Given the description of an element on the screen output the (x, y) to click on. 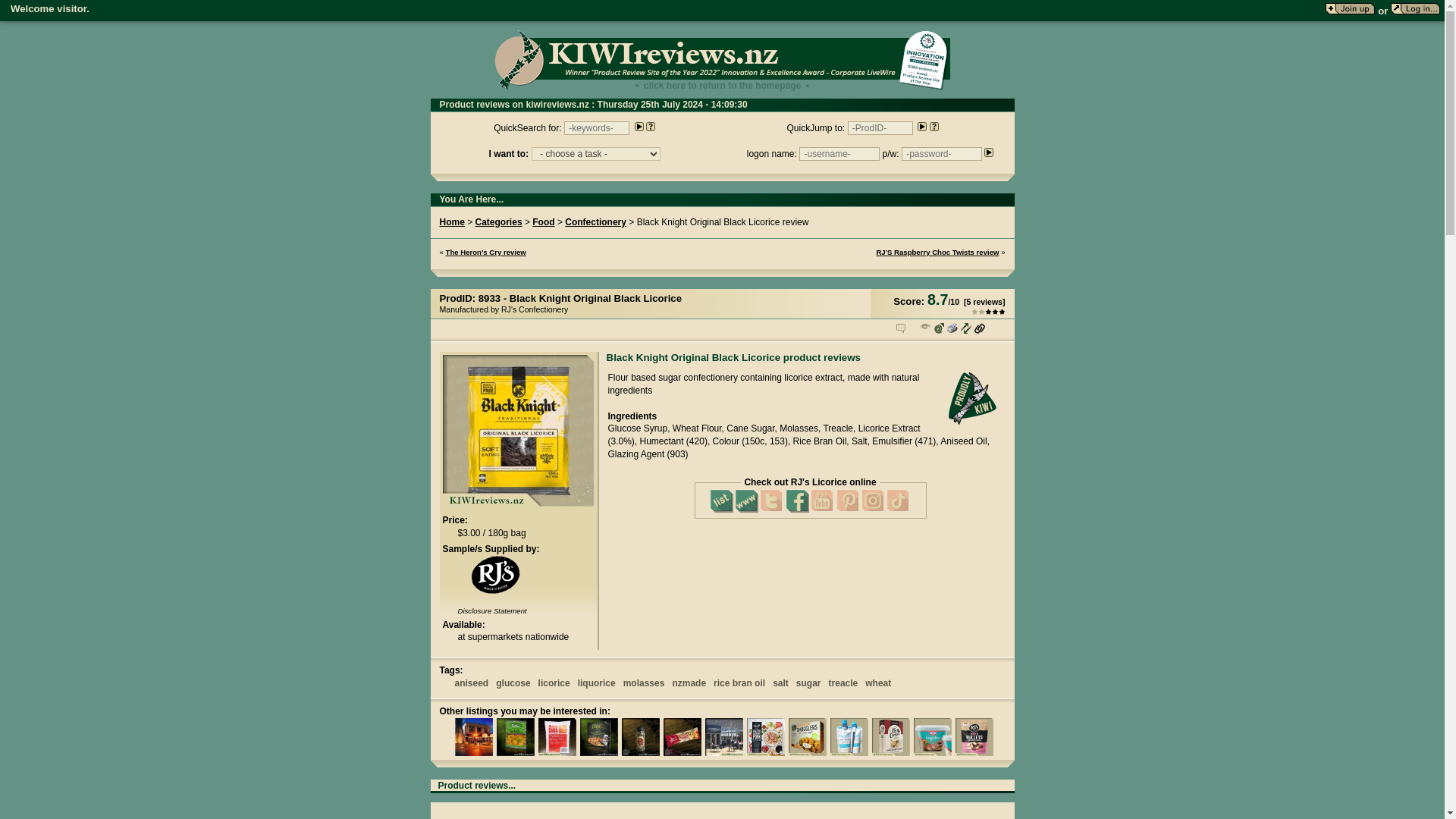
Link to tell a friend (938, 327)
Categories (499, 222)
Link to this review (965, 327)
What is QuickSearch? (650, 126)
RJ'S Raspberry Choc Twists review (937, 252)
rice bran oil (739, 683)
glucose (512, 683)
nzmade (688, 683)
Join us (1349, 8)
molasses (644, 683)
Sorry, this feature is available to logged in members only (900, 327)
salt (781, 683)
licorice (554, 683)
Proud to promote NZ products (974, 399)
liquorice (596, 683)
